Given the description of an element on the screen output the (x, y) to click on. 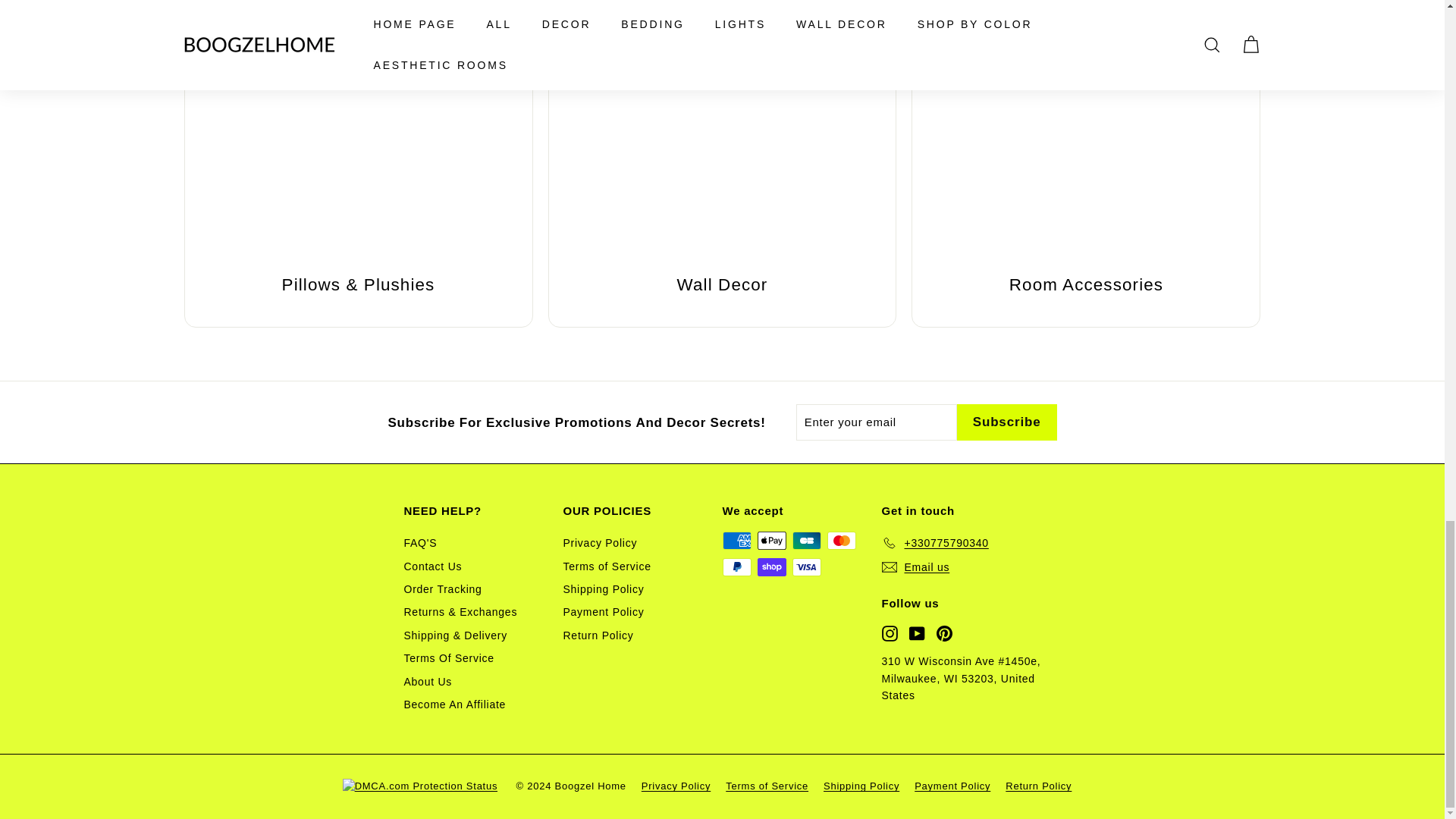
Shop Pay (771, 566)
PayPal (736, 566)
American Express (736, 540)
Mastercard (841, 540)
Boogzel Home on Instagram (888, 632)
Visa (806, 566)
Boogzel Home on Pinterest (944, 632)
Apple Pay (771, 540)
Cartes Bancaires (806, 540)
Boogzel Home on YouTube (916, 632)
DMCA.com Protection Status (427, 786)
